Given the description of an element on the screen output the (x, y) to click on. 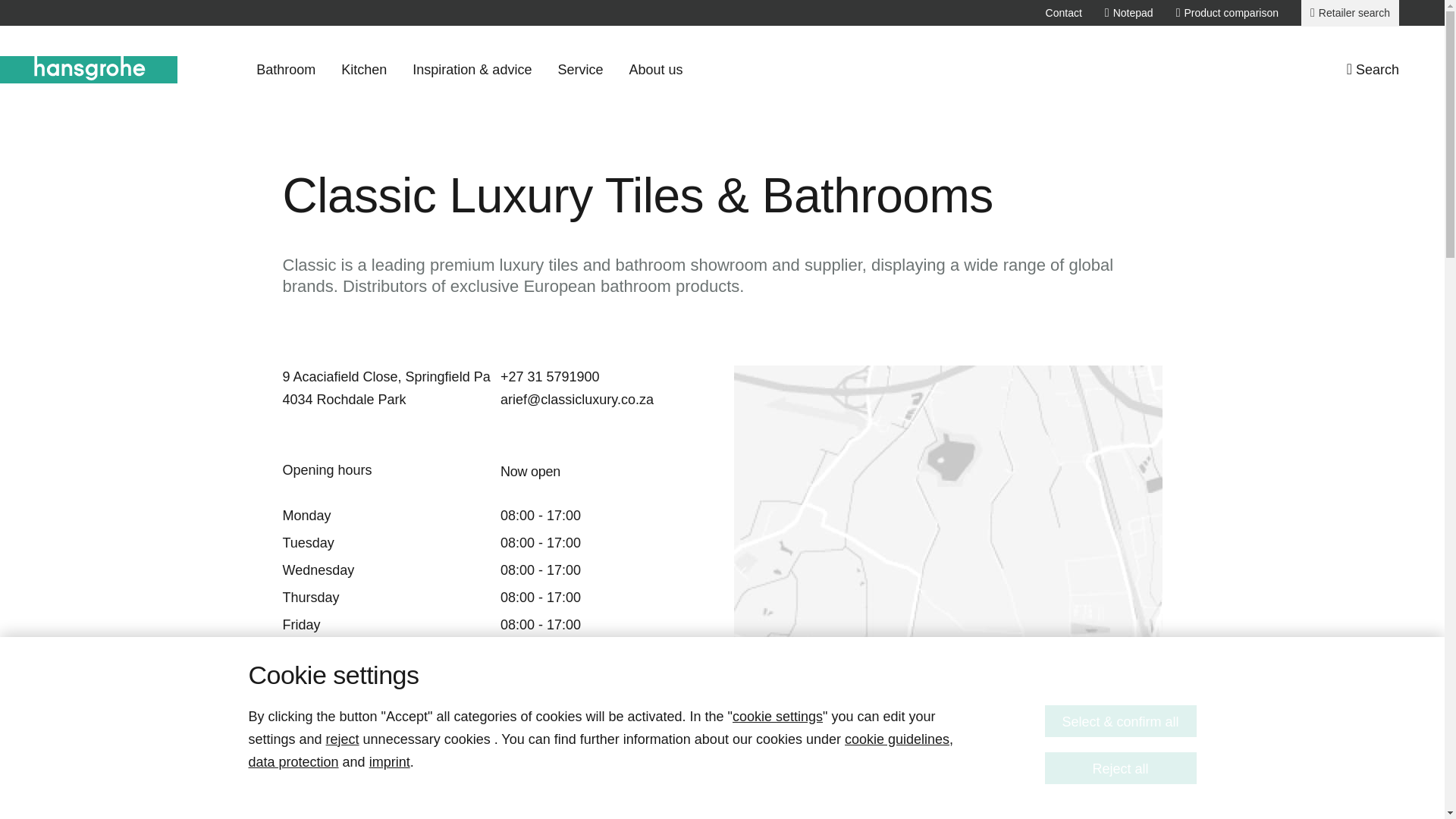
Contact (1063, 12)
hansgrohe logo (88, 69)
Service (579, 69)
Bathroom (285, 69)
Retailer search (1350, 13)
Contact (1063, 12)
Kitchen (363, 69)
Product comparison (1227, 12)
Notepad (1129, 12)
About us (655, 69)
